Given the description of an element on the screen output the (x, y) to click on. 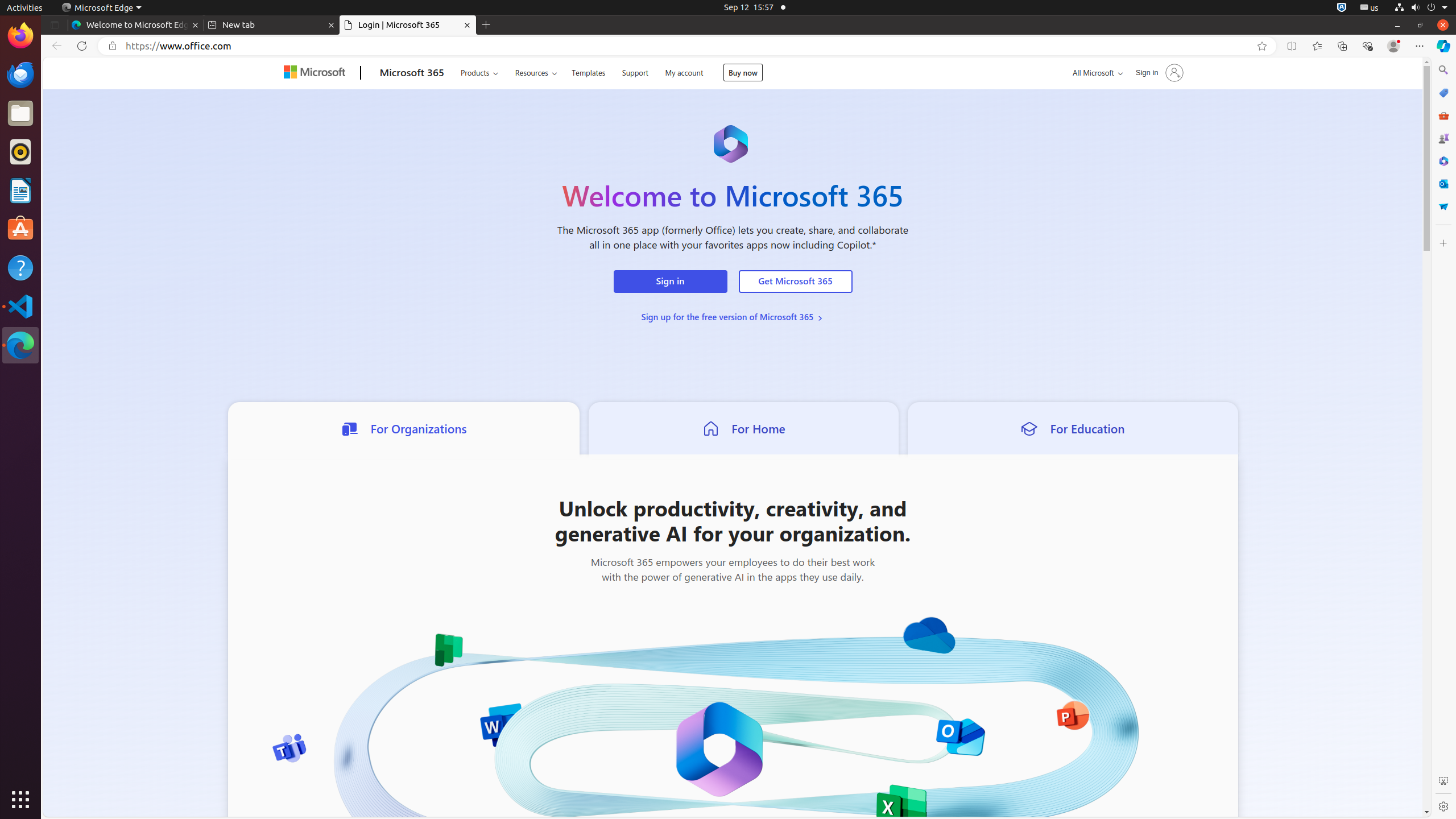
Help Element type: push-button (20, 267)
System Element type: menu (1420, 7)
Screenshot Element type: push-button (1443, 780)
Games Element type: push-button (1443, 137)
Files Element type: push-button (20, 113)
